Given the description of an element on the screen output the (x, y) to click on. 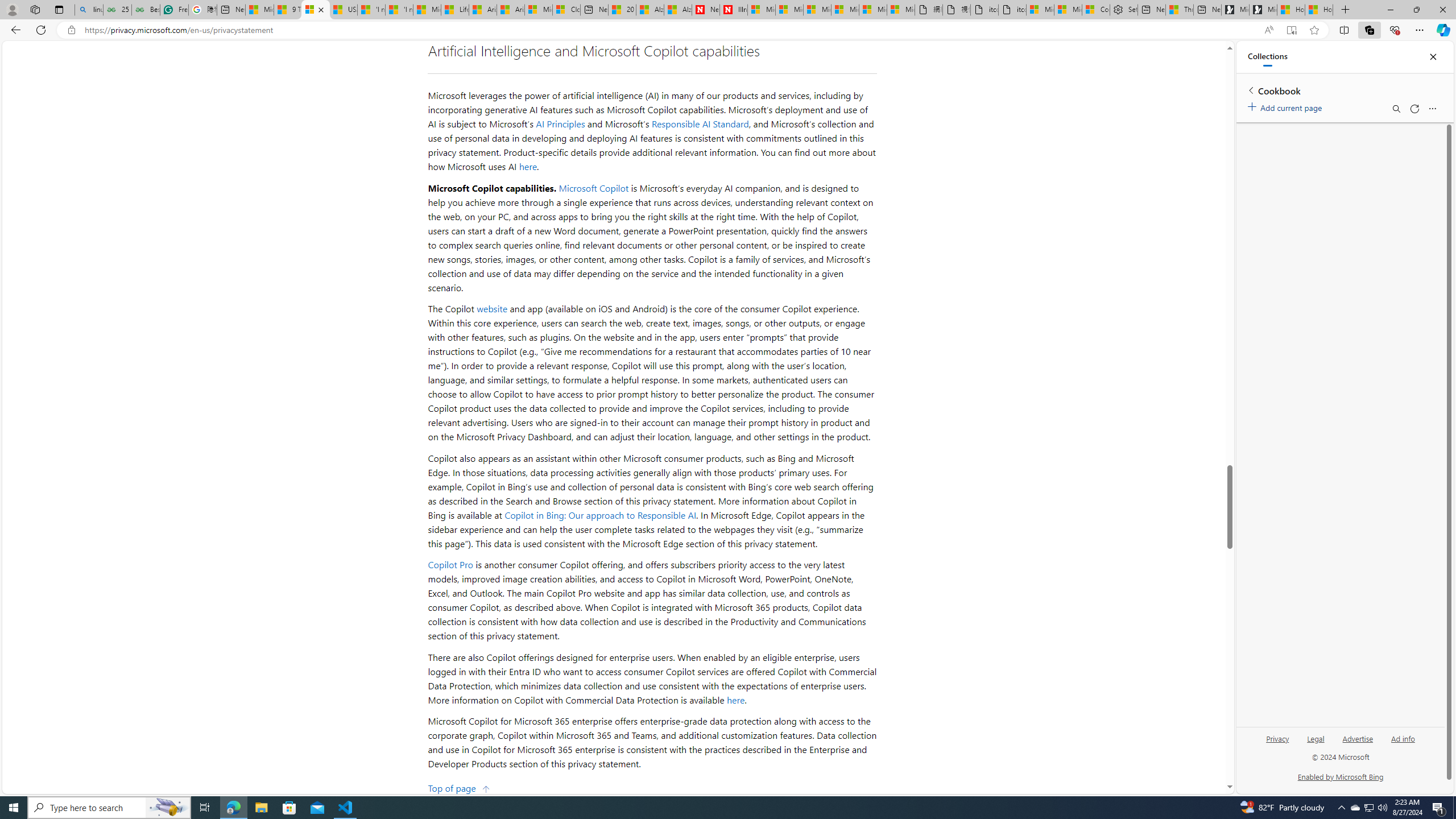
Add current page (1286, 105)
Top of page (459, 787)
AI Principles (560, 123)
